Given the description of an element on the screen output the (x, y) to click on. 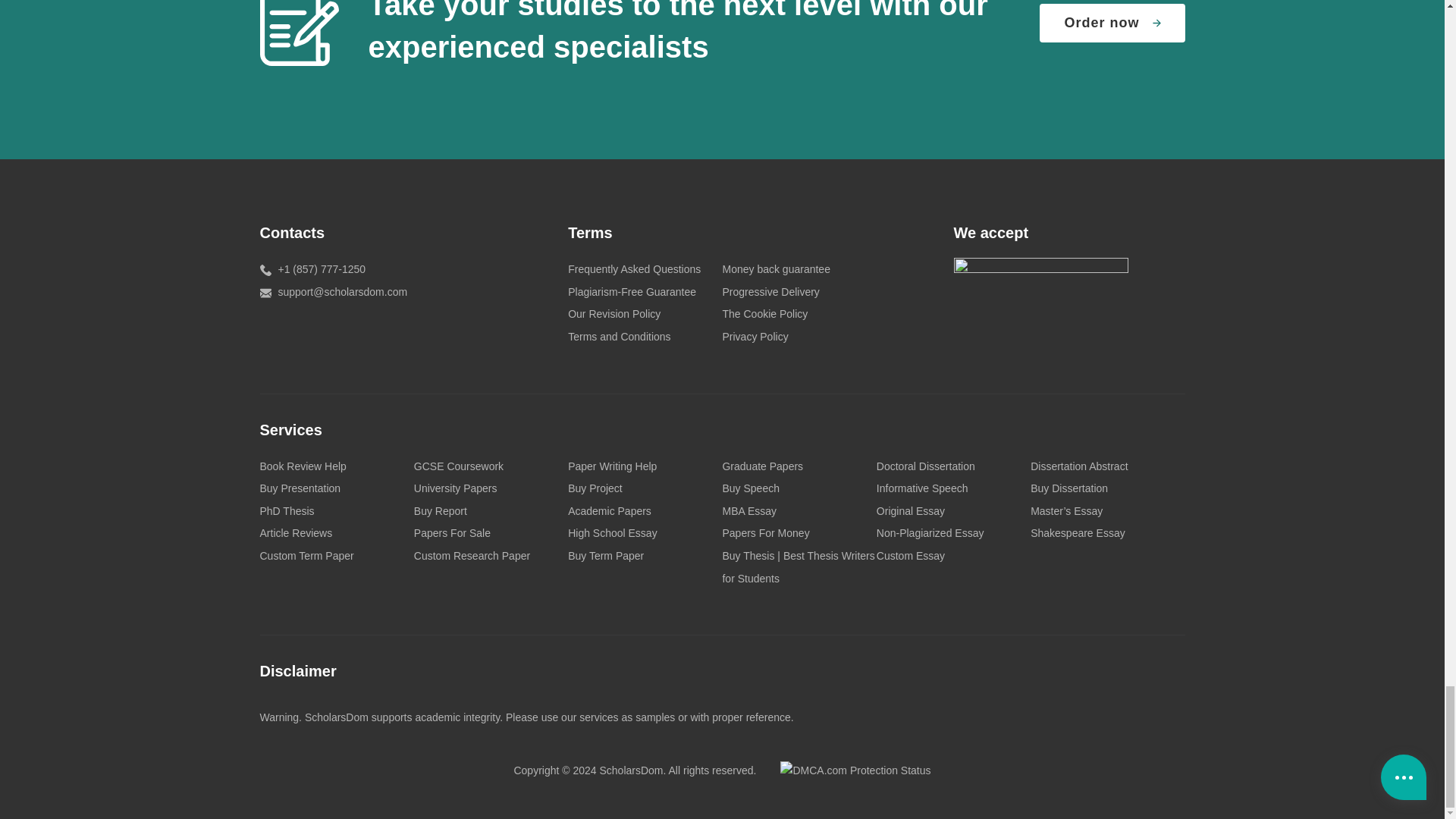
Money back guarantee (775, 268)
Privacy Policy (754, 336)
Order now (1112, 23)
Our Revision Policy (614, 313)
The Cookie Policy (765, 313)
GCSE Coursework (458, 466)
Plagiarism-Free Guarantee (631, 291)
Terms and Conditions (618, 336)
Book Review Help (302, 466)
Progressive Delivery (770, 291)
Frequently Asked Questions (633, 268)
